Given the description of an element on the screen output the (x, y) to click on. 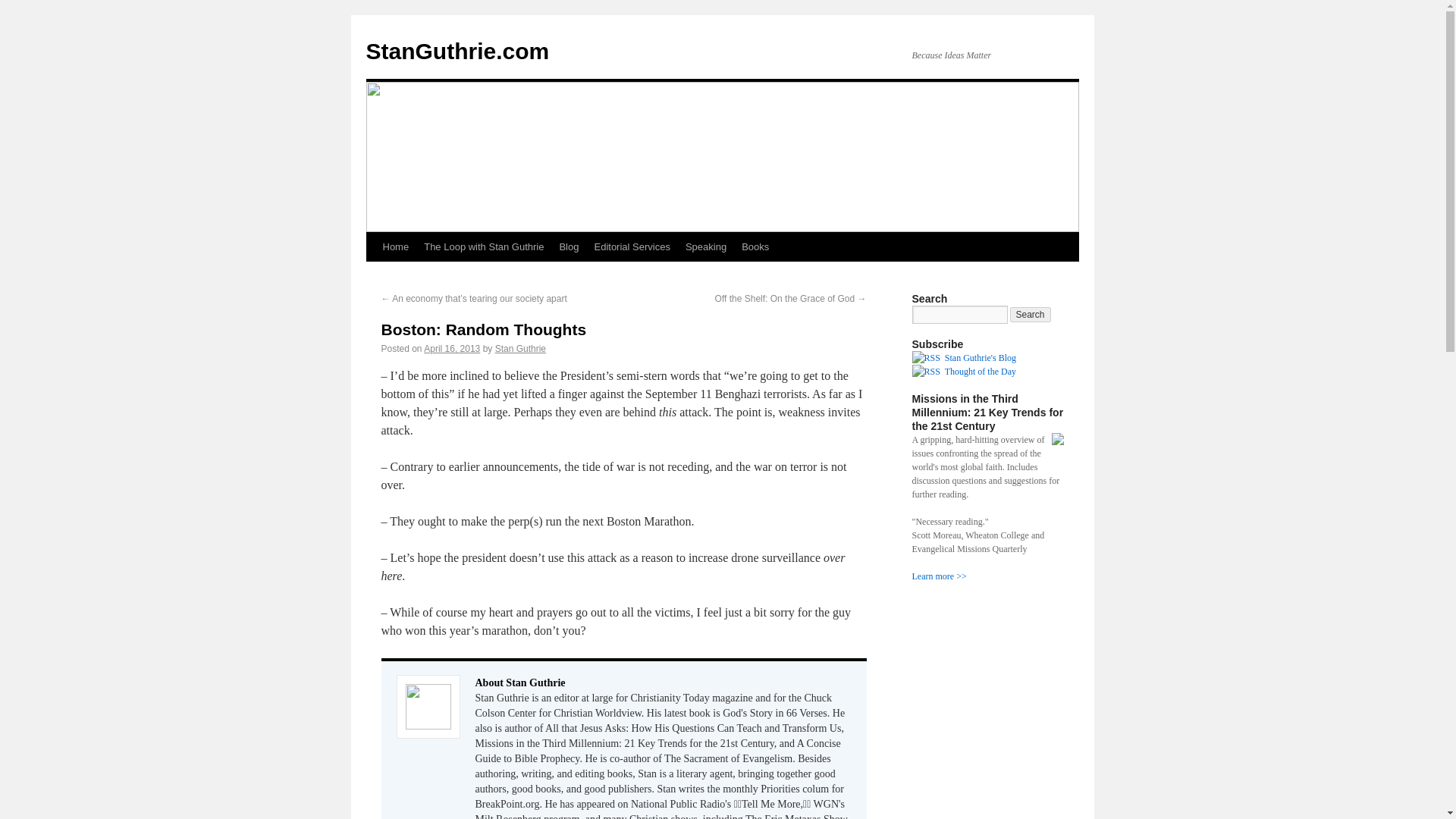
StanGuthrie.com (456, 50)
7:18 am (451, 348)
Speaking (705, 246)
Thought of the Day (980, 371)
Search (1030, 314)
Search (1030, 314)
Books (754, 246)
Stan Guthrie's Blog (980, 357)
The Loop with Stan Guthrie (483, 246)
View all posts by Stan Guthrie (520, 348)
